Given the description of an element on the screen output the (x, y) to click on. 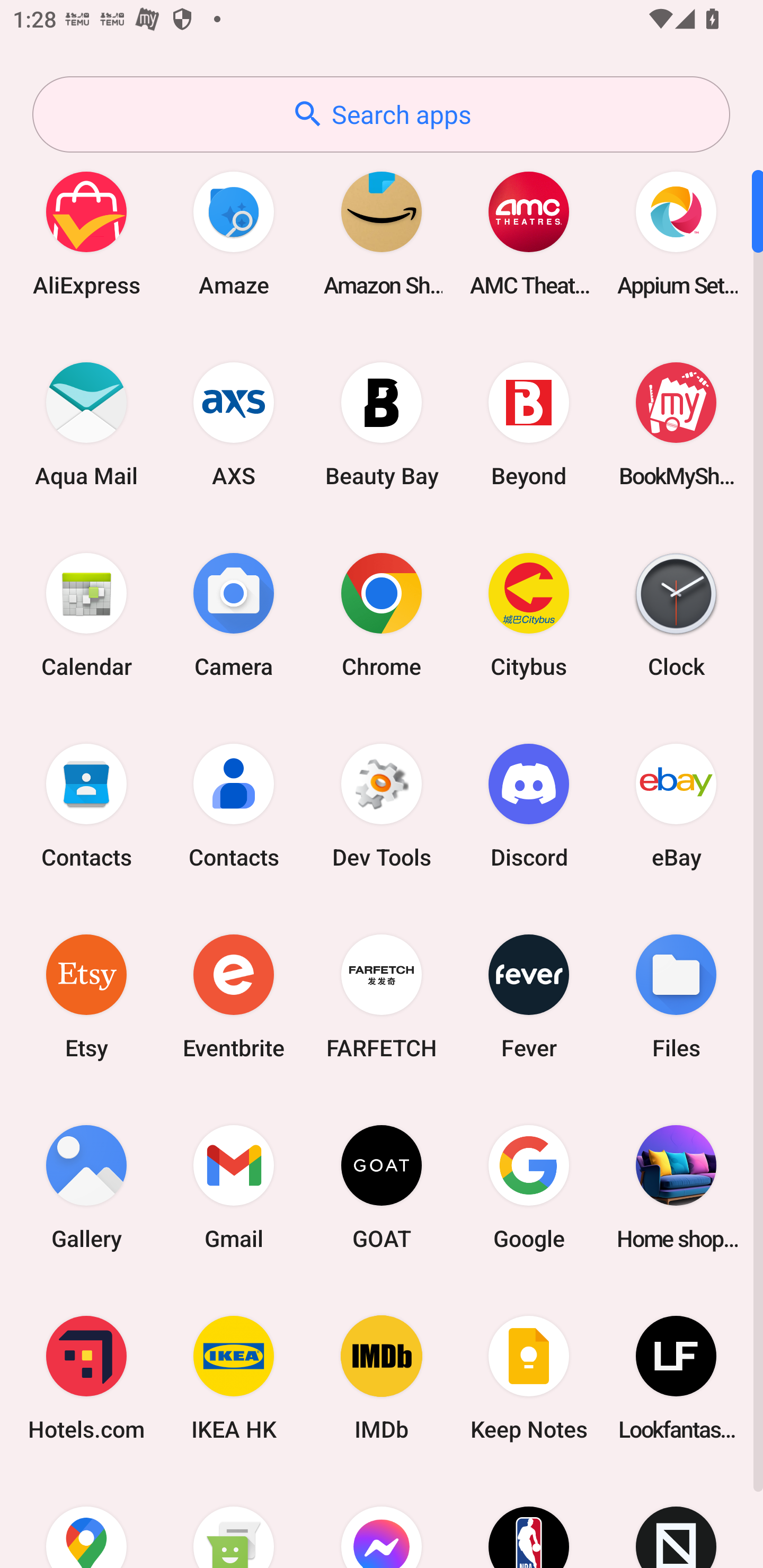
  Search apps (381, 114)
AliExpress (86, 233)
Amaze (233, 233)
Amazon Shopping (381, 233)
AMC Theatres (528, 233)
Appium Settings (676, 233)
Aqua Mail (86, 424)
AXS (233, 424)
Beauty Bay (381, 424)
Beyond (528, 424)
BookMyShow (676, 424)
Calendar (86, 614)
Camera (233, 614)
Chrome (381, 614)
Citybus (528, 614)
Clock (676, 614)
Contacts (86, 805)
Contacts (233, 805)
Dev Tools (381, 805)
Discord (528, 805)
eBay (676, 805)
Etsy (86, 996)
Eventbrite (233, 996)
FARFETCH (381, 996)
Fever (528, 996)
Files (676, 996)
Gallery (86, 1186)
Gmail (233, 1186)
GOAT (381, 1186)
Google (528, 1186)
Home shopping (676, 1186)
Hotels.com (86, 1377)
IKEA HK (233, 1377)
IMDb (381, 1377)
Keep Notes (528, 1377)
Lookfantastic (676, 1377)
